Given the description of an element on the screen output the (x, y) to click on. 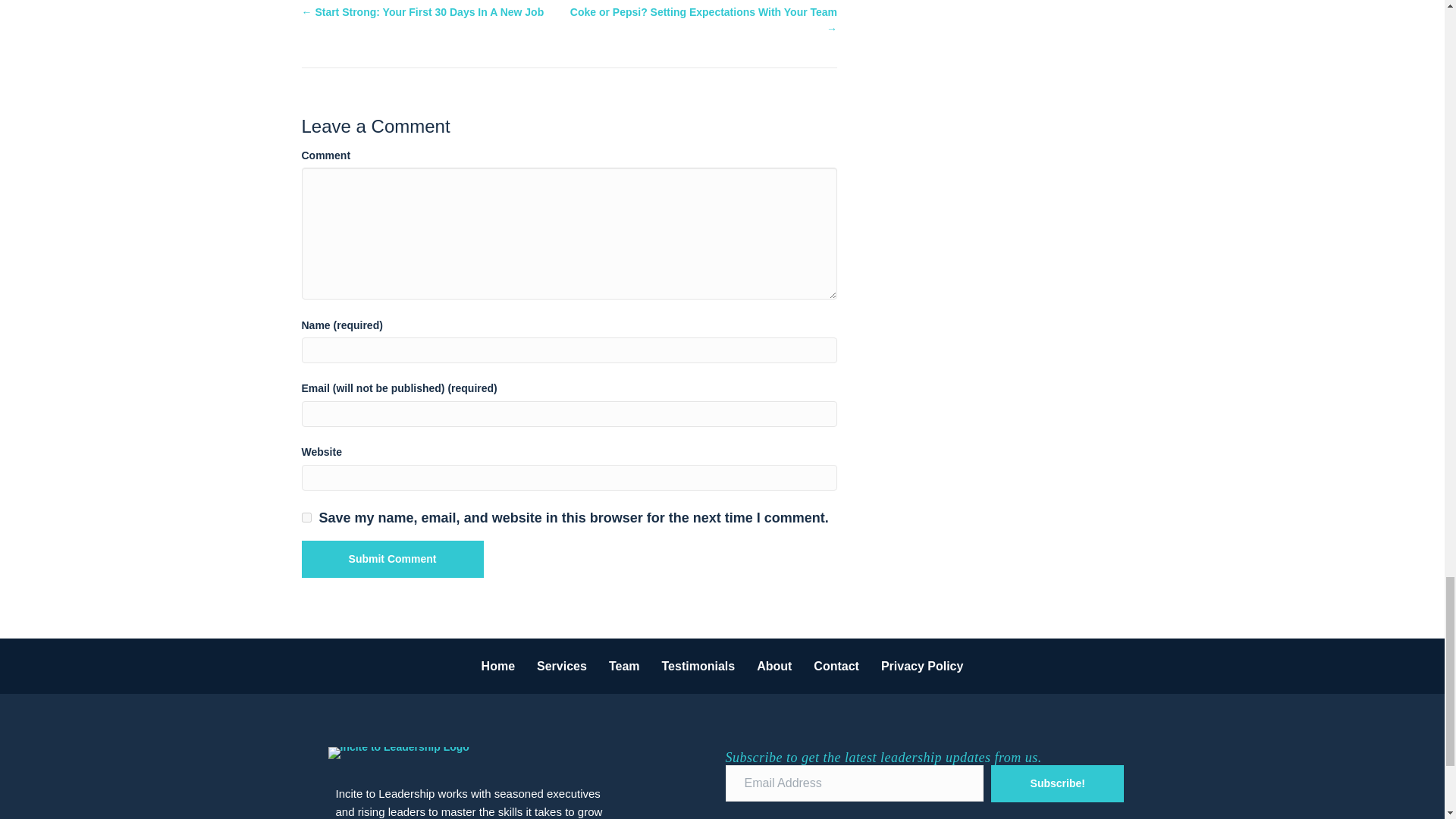
yes (306, 517)
Submit Comment (392, 559)
Submit Comment (392, 559)
incite-to-leadership-logo-ko (397, 752)
